Given the description of an element on the screen output the (x, y) to click on. 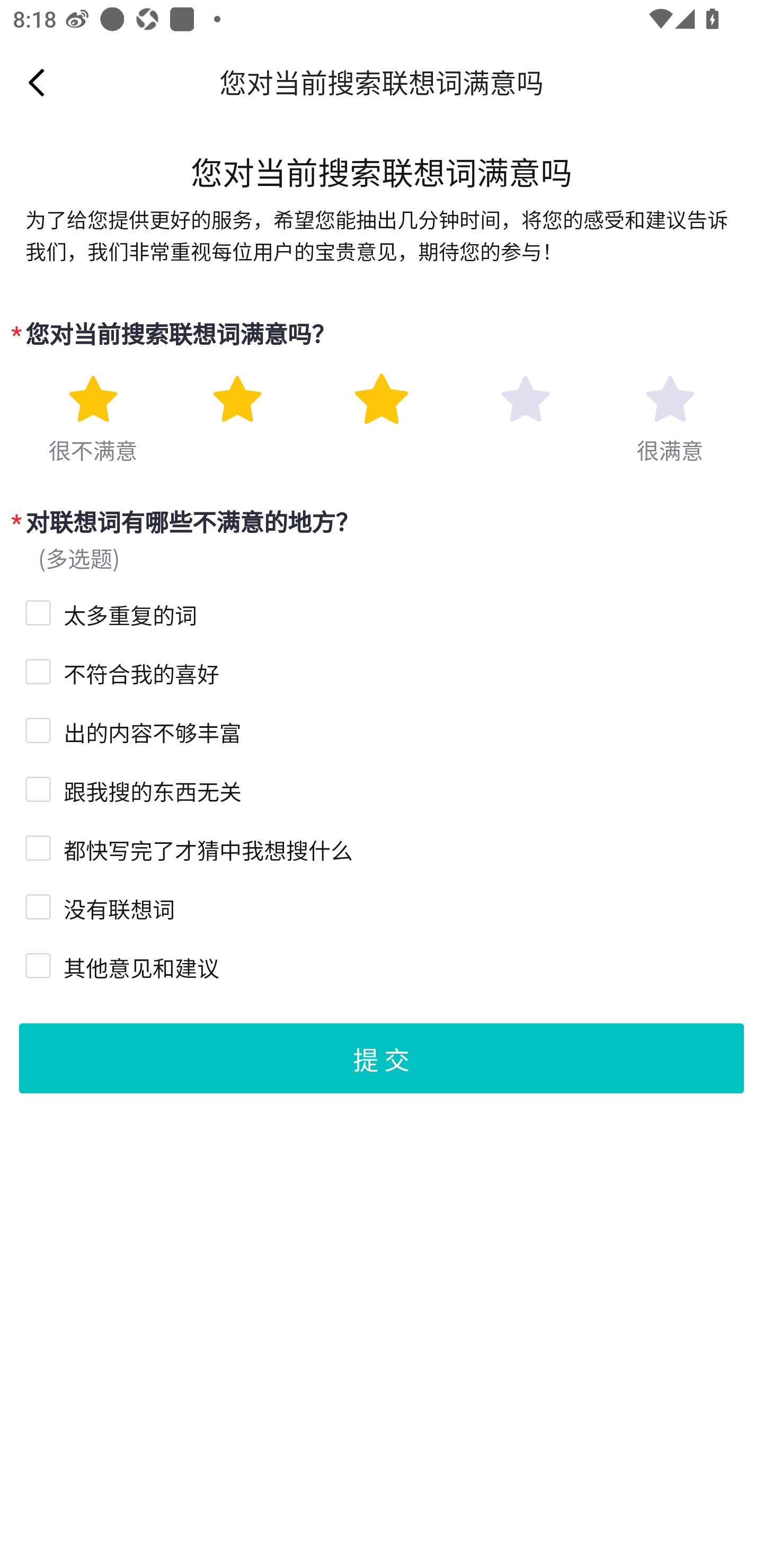
Navigate up (36, 82)
star star (381, 399)
star star (92, 399)
star star (237, 399)
star star (524, 399)
star star (669, 399)
太多重复的词   (36, 610)
不符合我的喜好   (36, 670)
出的内容不够丰富   (36, 728)
跟我搜的东西无关   (36, 787)
都快写完了才猜中我想搜什么   (36, 845)
没有联想词   (36, 905)
其他意见和建议   (36, 963)
提 交 (381, 1057)
